Given the description of an element on the screen output the (x, y) to click on. 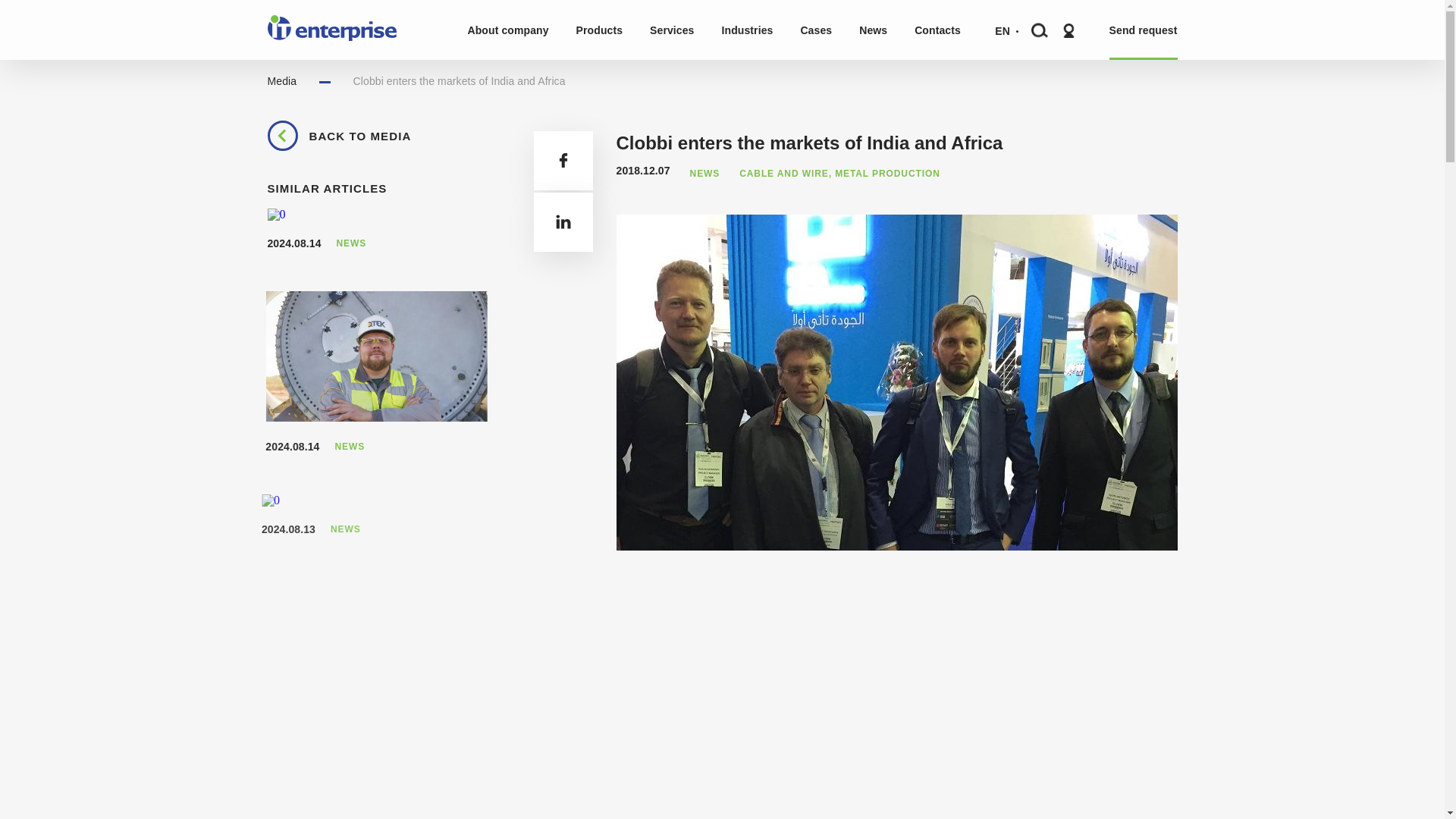
Contacts (937, 29)
Send request (1143, 29)
Industries (747, 29)
Services (671, 29)
Products (599, 29)
EN (1003, 24)
0 (375, 356)
About company (507, 29)
0 (275, 214)
